Given the description of an element on the screen output the (x, y) to click on. 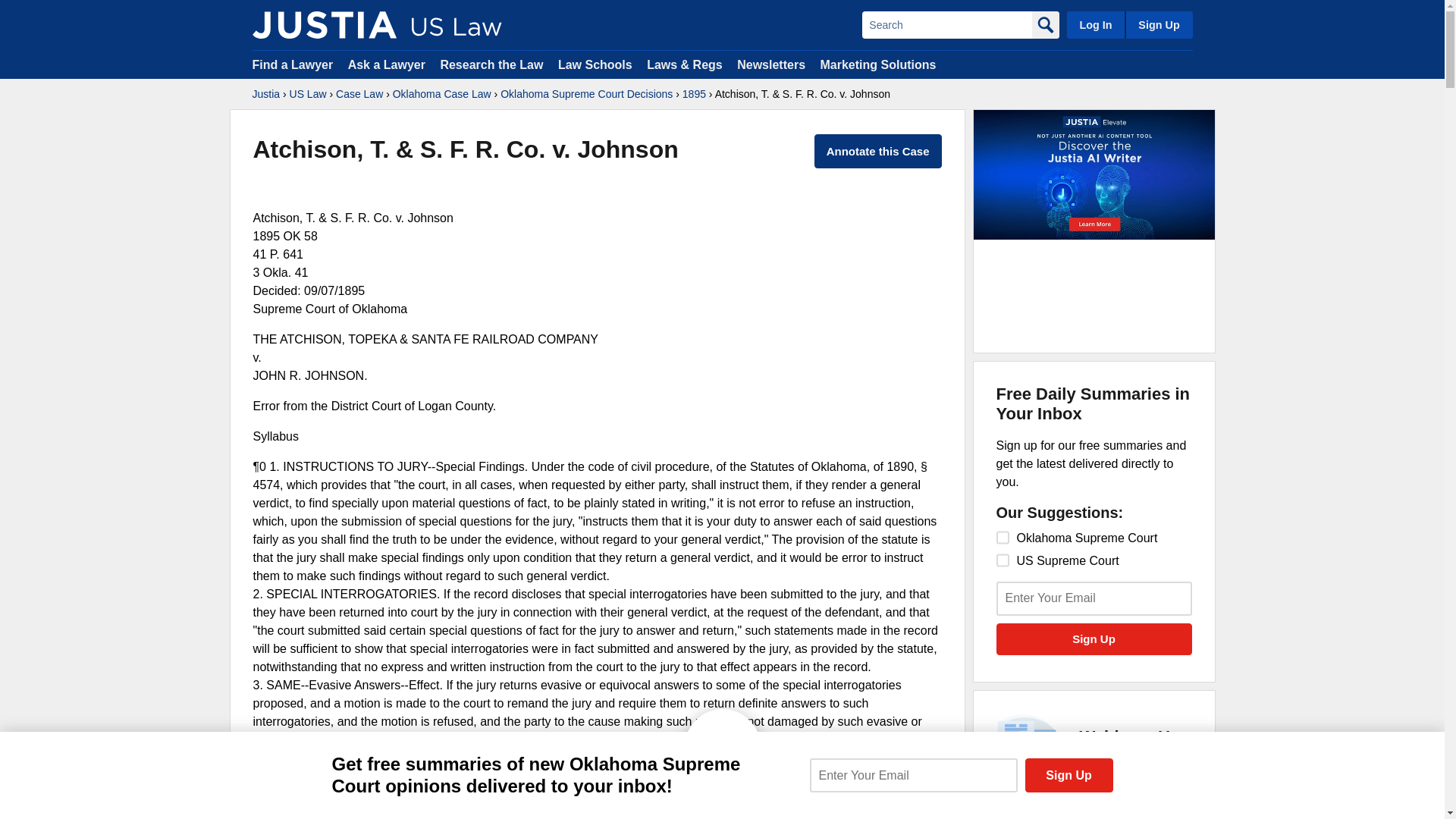
1895 (694, 93)
Annotate this Case (877, 151)
Sign Up (1093, 639)
Law Schools (594, 64)
Research the Law (491, 64)
Marketing Solutions (877, 64)
122 (1014, 813)
Oklahoma Supreme Court Decisions (1002, 536)
US Law (586, 93)
Find a Lawyer (307, 93)
Justia (292, 64)
Ask a Lawyer (265, 93)
Enter email (388, 64)
Log In (1093, 598)
